Given the description of an element on the screen output the (x, y) to click on. 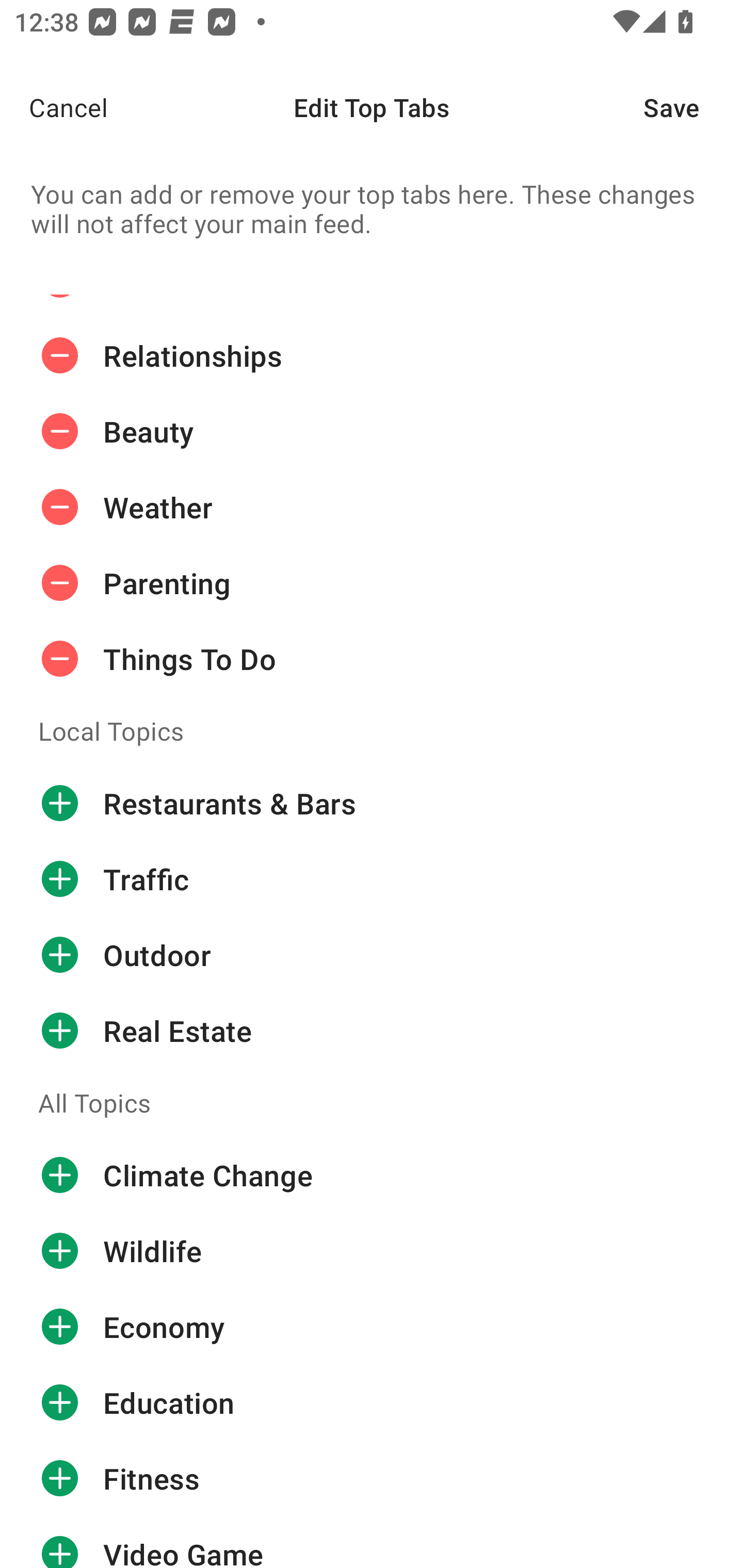
Cancel (53, 106)
Save (693, 106)
Relationships (371, 355)
Beauty (371, 430)
Weather (371, 506)
Parenting (371, 582)
Things To Do (371, 658)
Restaurants & Bars (371, 803)
Traffic (371, 879)
Outdoor (371, 954)
Real Estate (371, 1030)
Climate Change (371, 1174)
Wildlife (371, 1250)
Economy (371, 1326)
Education (371, 1402)
Fitness (371, 1478)
Video Game (371, 1542)
